Given the description of an element on the screen output the (x, y) to click on. 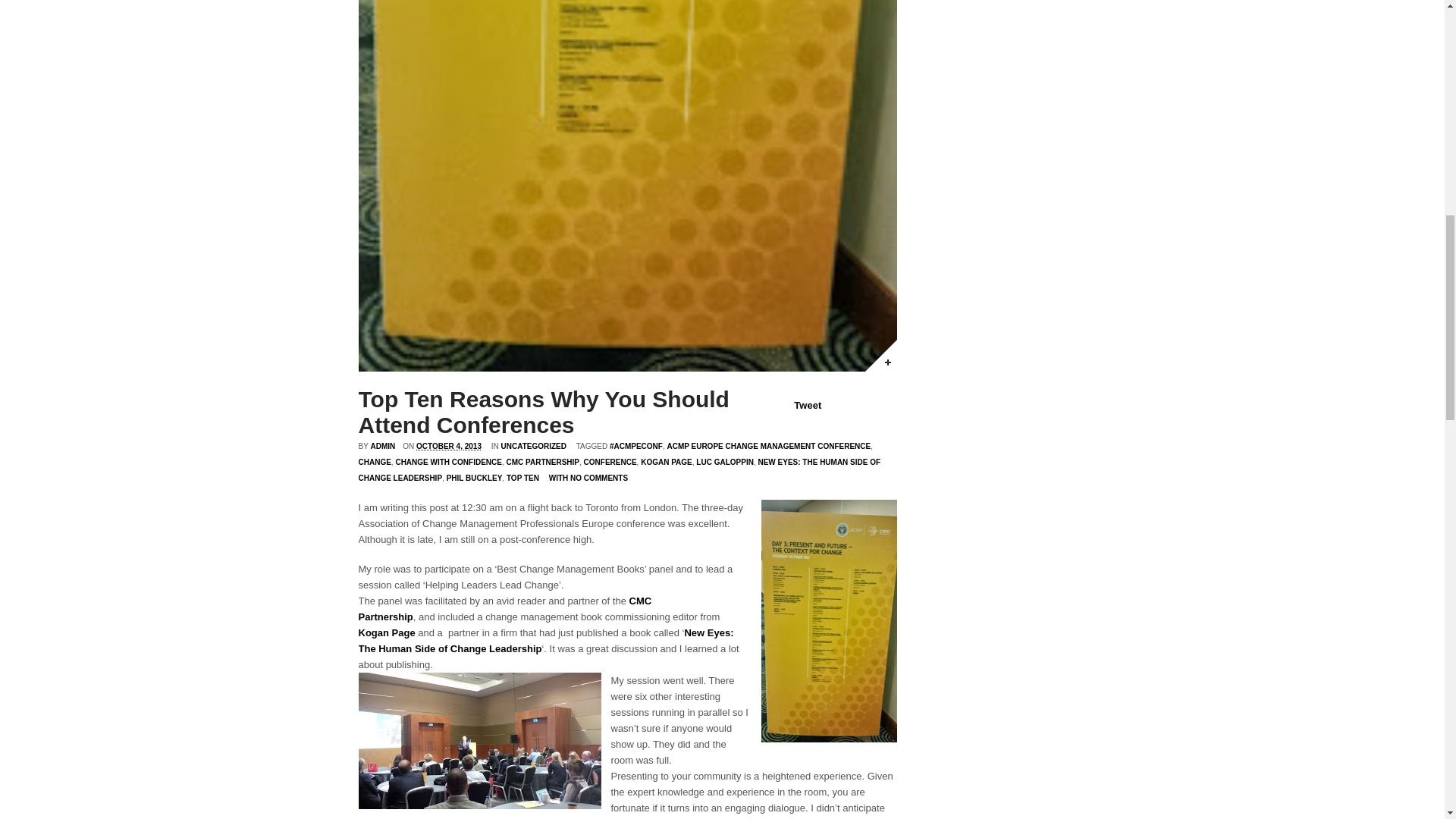
UNCATEGORIZED (533, 446)
TOP TEN (522, 478)
WITH NO COMMENTS (587, 478)
CONFERENCE (610, 461)
CMC PARTNERSHIP (542, 461)
5:01 pm (448, 446)
CHANGE WITH CONFIDENCE (448, 461)
Tweet (807, 405)
ACMP EUROPE CHANGE MANAGEMENT CONFERENCE (768, 446)
PHIL BUCKLEY (474, 478)
LUC GALOPPIN (724, 461)
CHANGE (374, 461)
